Given the description of an element on the screen output the (x, y) to click on. 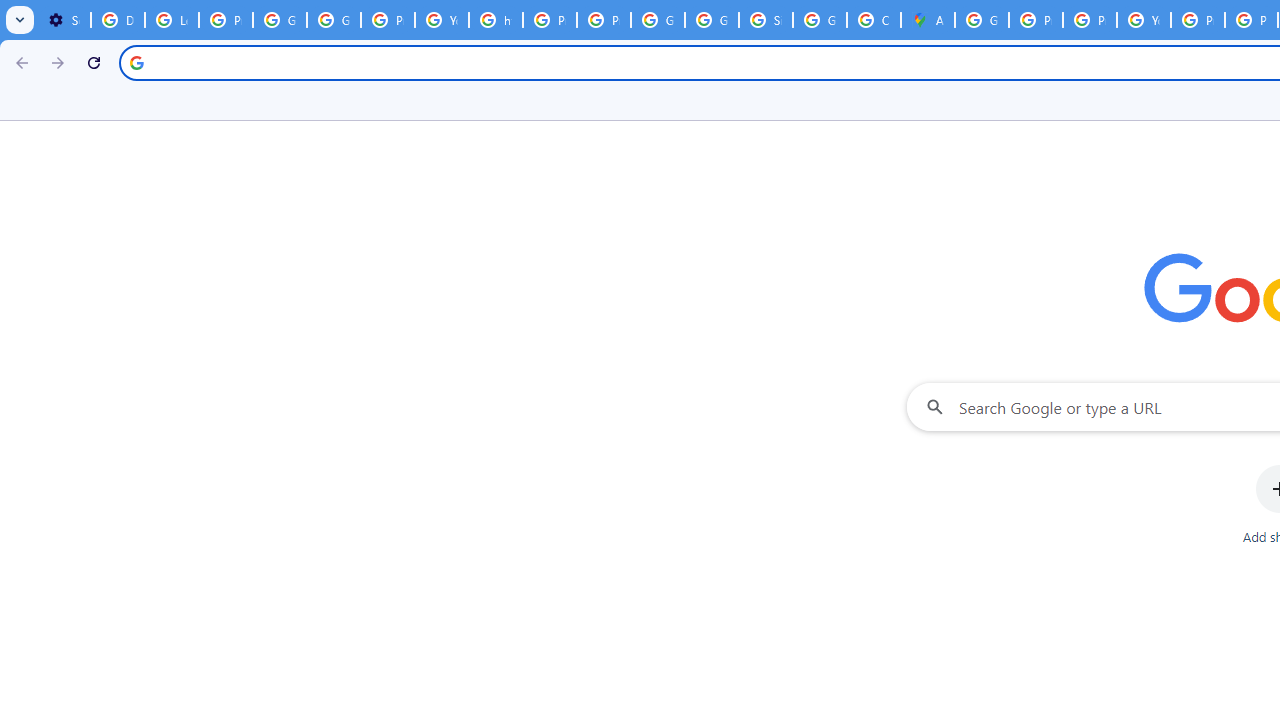
Privacy Help Center - Policies Help (1035, 20)
System (10, 11)
Reload (93, 62)
Privacy Help Center - Policies Help (550, 20)
Search icon (136, 62)
YouTube (441, 20)
Forward (57, 62)
Create your Google Account (874, 20)
Privacy Help Center - Policies Help (1089, 20)
System (10, 11)
Back (19, 62)
Delete photos & videos - Computer - Google Photos Help (117, 20)
